Given the description of an element on the screen output the (x, y) to click on. 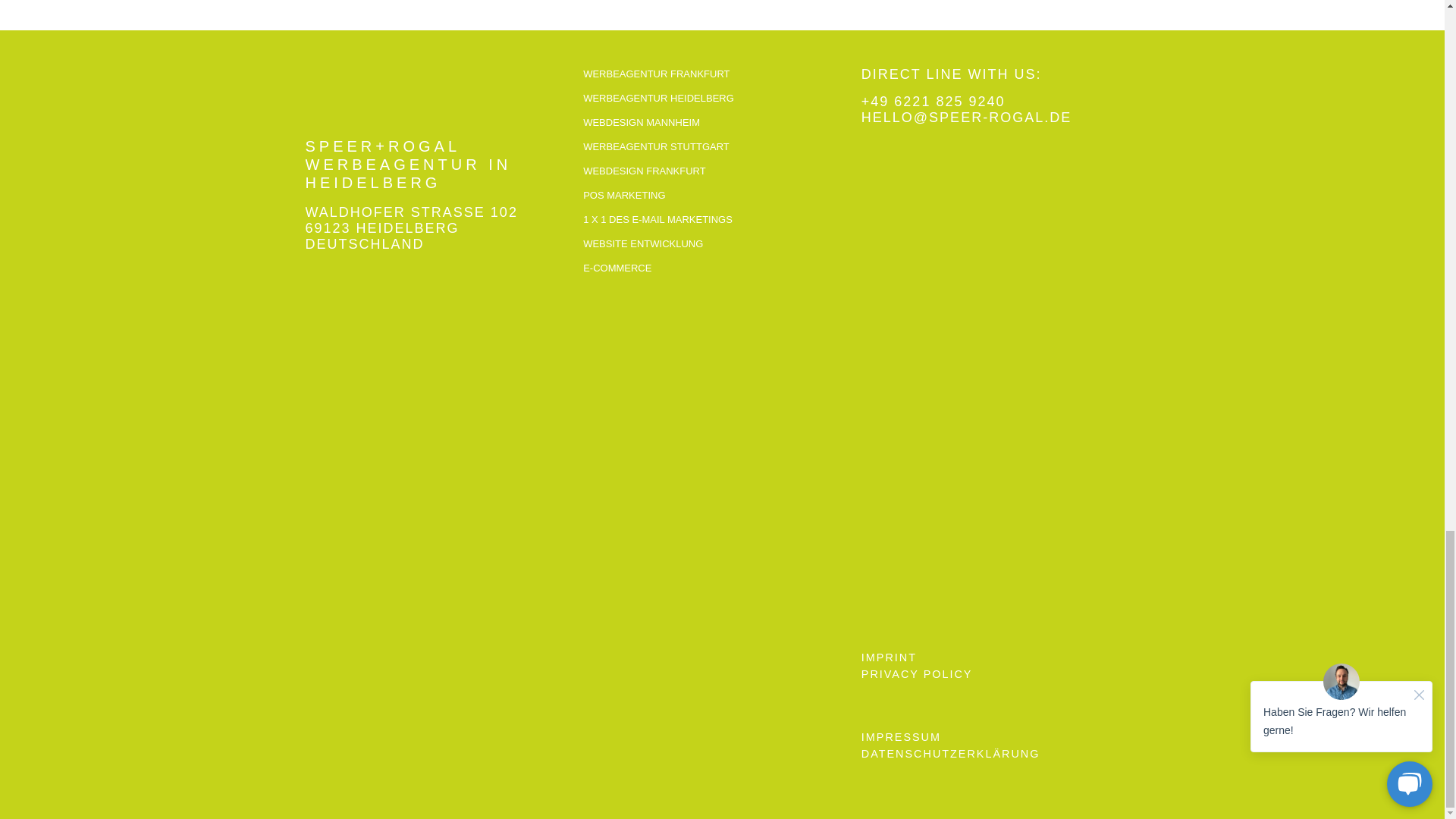
POS MARKETING (718, 195)
WEBSITE ENTWICKLUNG (718, 243)
E-COMMERCE (718, 268)
WERBEAGENTUR FRANKFURT (718, 74)
WEBDESIGN FRANKFURT (718, 170)
WEBDESIGN MANNHEIM (718, 122)
1 X 1 DES E-MAIL MARKETINGS (718, 219)
WERBEAGENTUR STUTTGART (718, 146)
WERBEAGENTUR HEIDELBERG (718, 98)
